Given the description of an element on the screen output the (x, y) to click on. 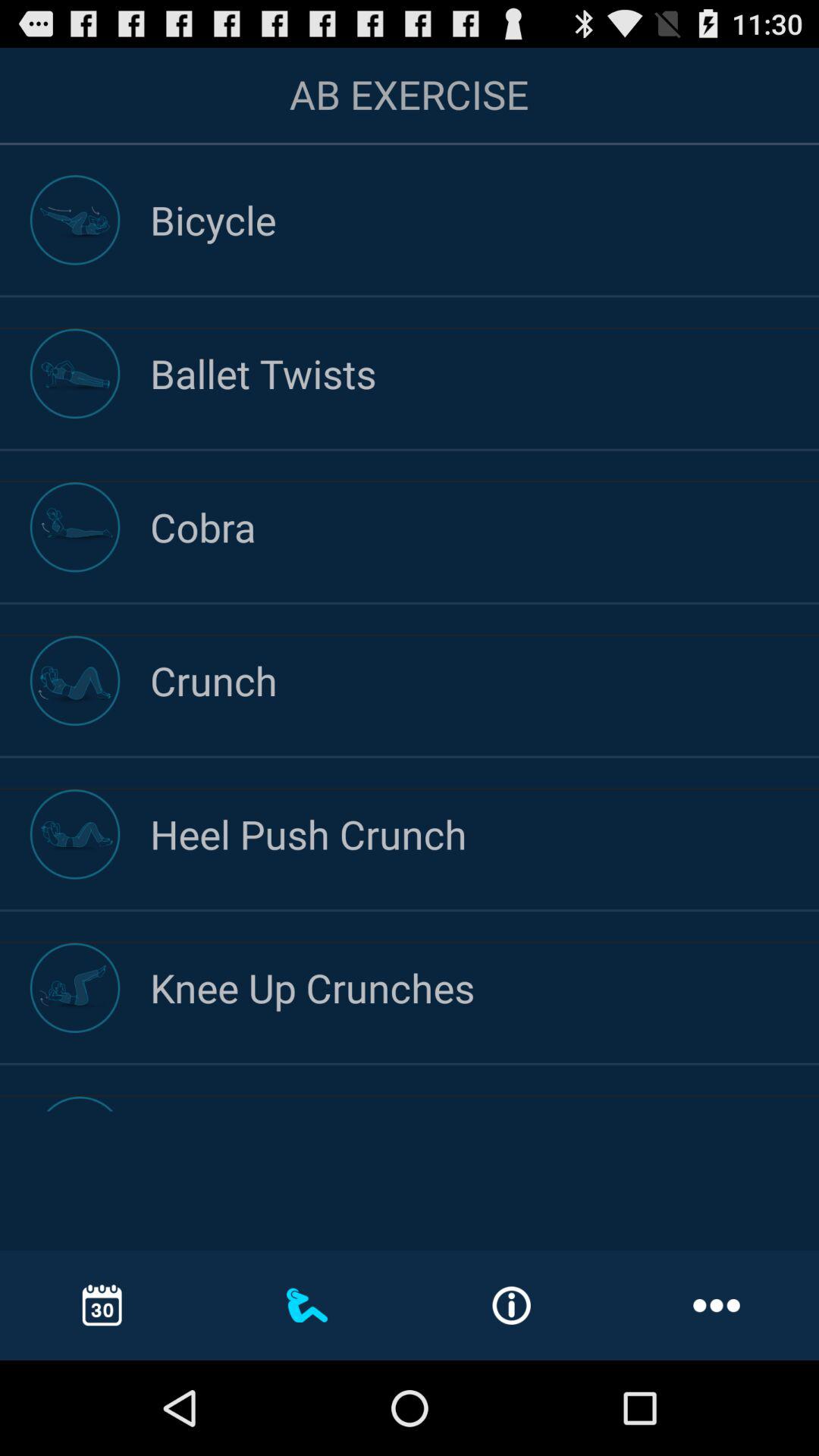
swipe until ballet twists item (484, 372)
